Given the description of an element on the screen output the (x, y) to click on. 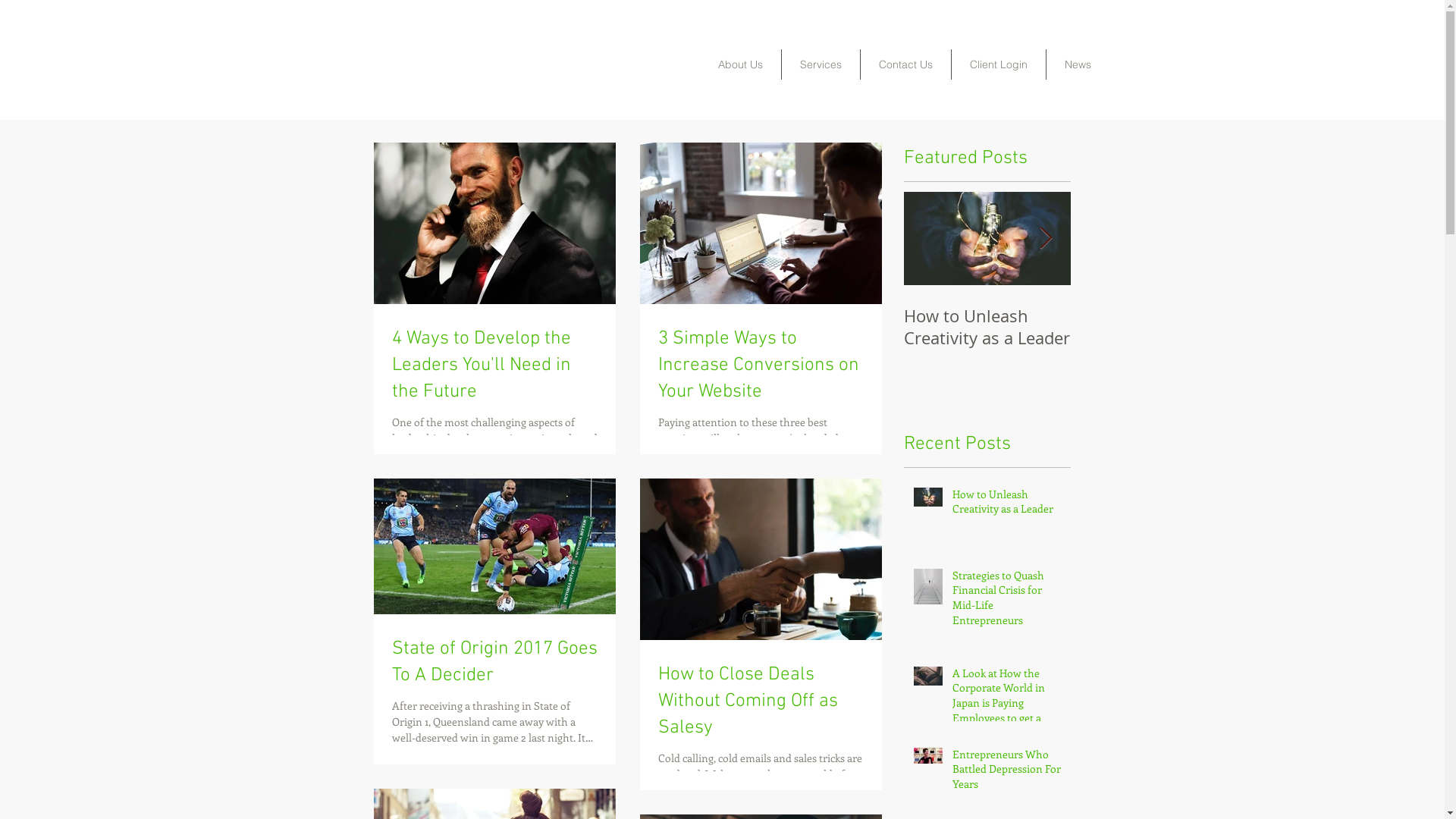
State of Origin 2017 Goes To A Decider Element type: text (493, 662)
Entrepreneurs Who Battled Depression For Years Element type: text (1006, 771)
4 Ways to Develop the Leaders You'll Need in the Future Element type: text (493, 365)
How to Unleash Creativity as a Leader Element type: text (1006, 504)
News Element type: text (1077, 64)
Contact Us Element type: text (904, 64)
Services Element type: text (820, 64)
How to Unleash Creativity as a Leader Element type: text (986, 326)
3 Simple Ways to Increase Conversions on Your Website Element type: text (760, 365)
How to Close Deals Without Coming Off as Salesy Element type: text (760, 701)
Client Login Element type: text (997, 64)
About Us Element type: text (739, 64)
